Given the description of an element on the screen output the (x, y) to click on. 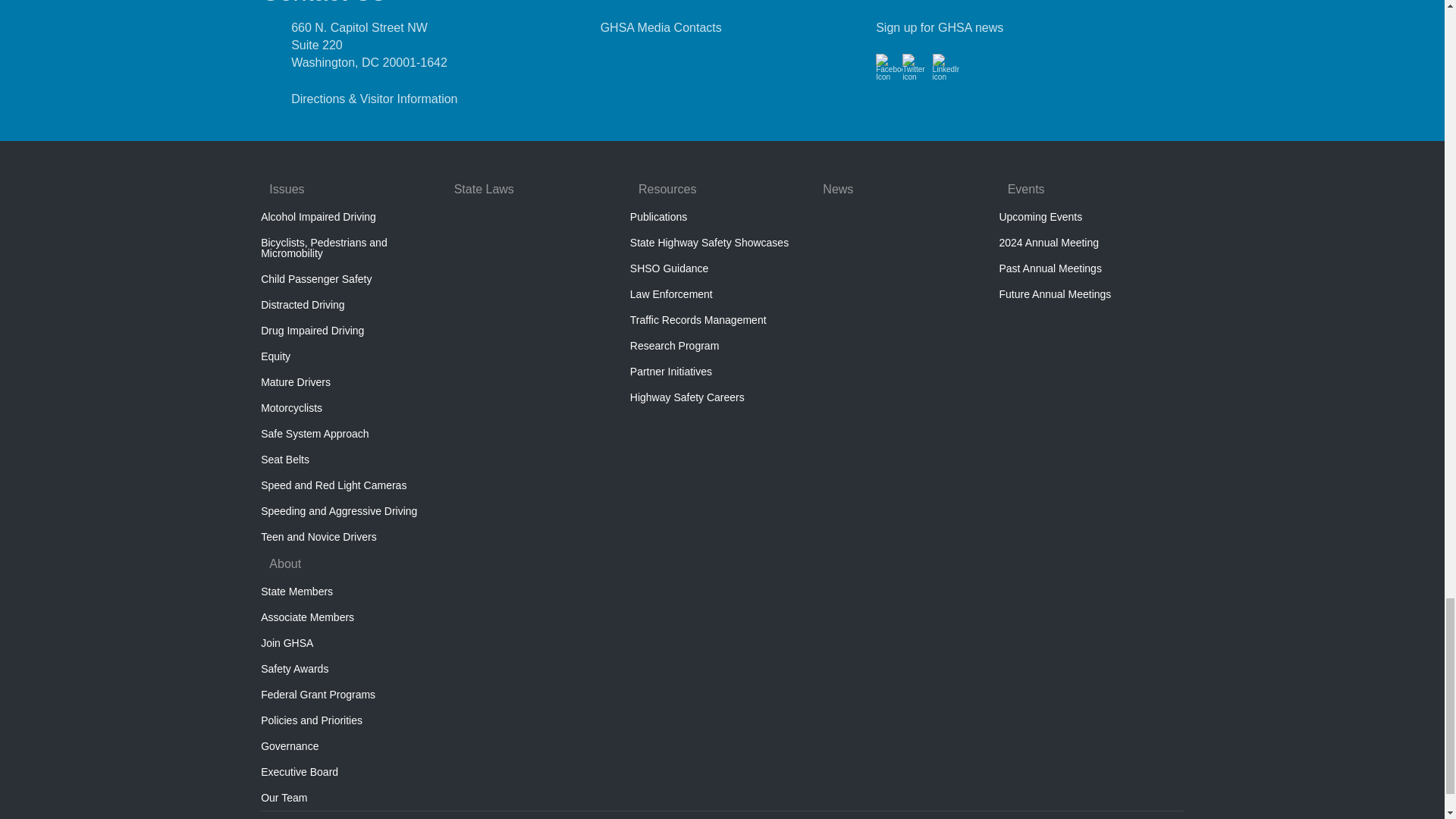
Connect With Us on LinkedIn! (946, 74)
Like Us on Facebook! (889, 74)
Follow Us on Twitter! (915, 74)
